Given the description of an element on the screen output the (x, y) to click on. 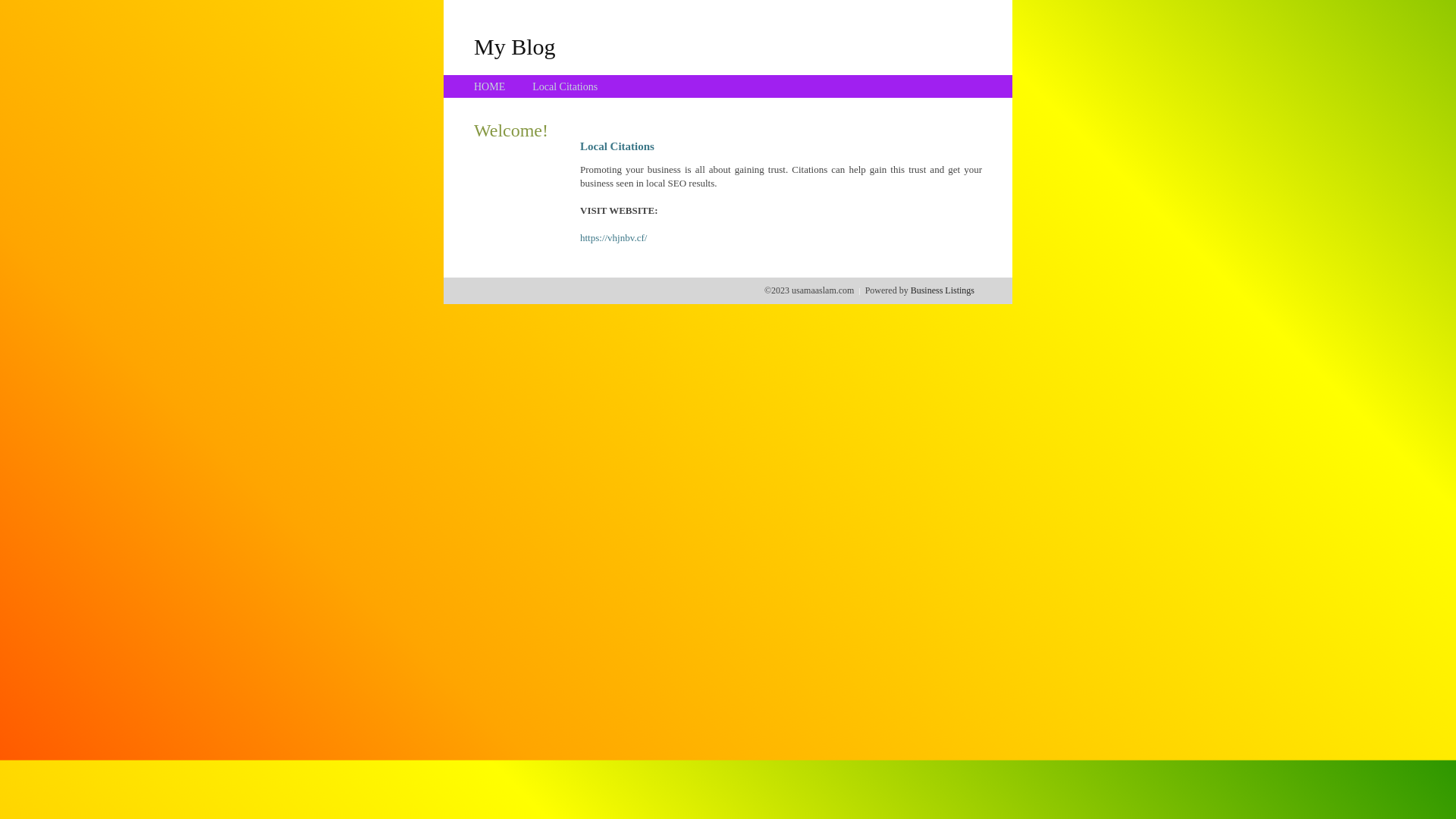
https://vhjnbv.cf/ Element type: text (613, 237)
Local Citations Element type: text (564, 86)
Business Listings Element type: text (942, 290)
HOME Element type: text (489, 86)
My Blog Element type: text (514, 46)
